Given the description of an element on the screen output the (x, y) to click on. 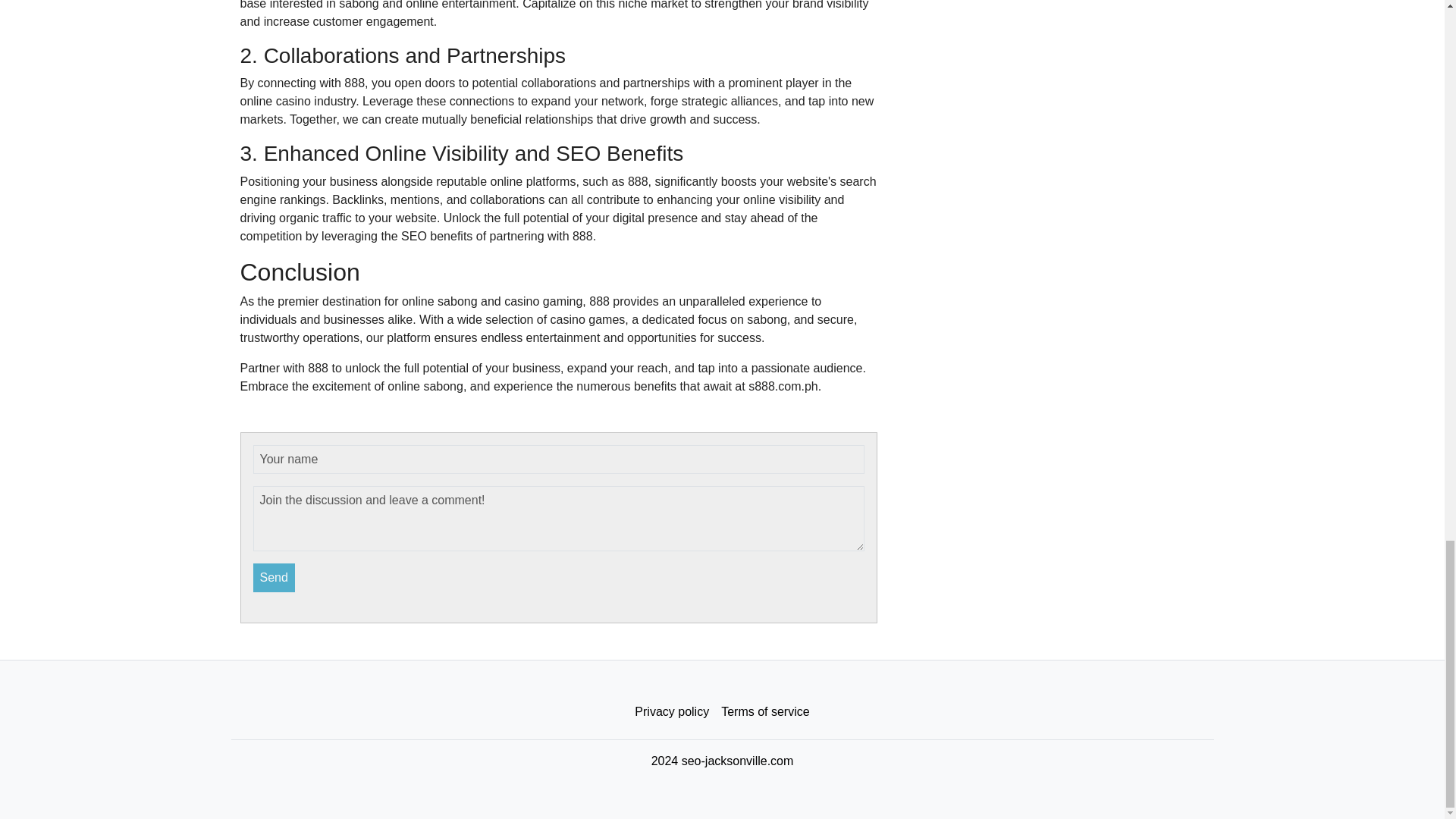
Privacy policy (671, 711)
Send (274, 577)
Send (274, 577)
Terms of service (764, 711)
